Given the description of an element on the screen output the (x, y) to click on. 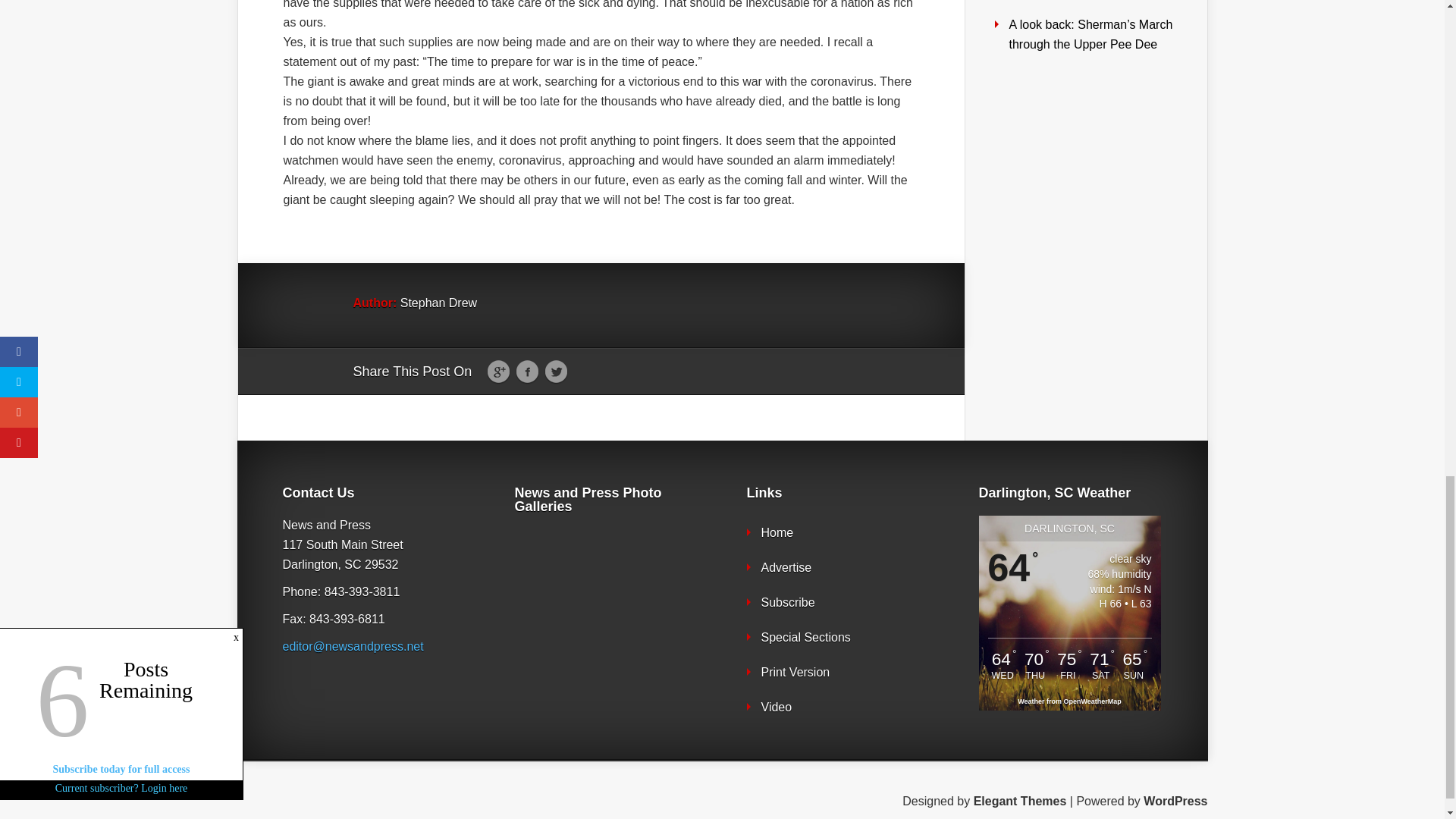
Facebook (526, 372)
Twitter (555, 372)
Google (498, 372)
Premium WordPress Themes (1020, 800)
